Given the description of an element on the screen output the (x, y) to click on. 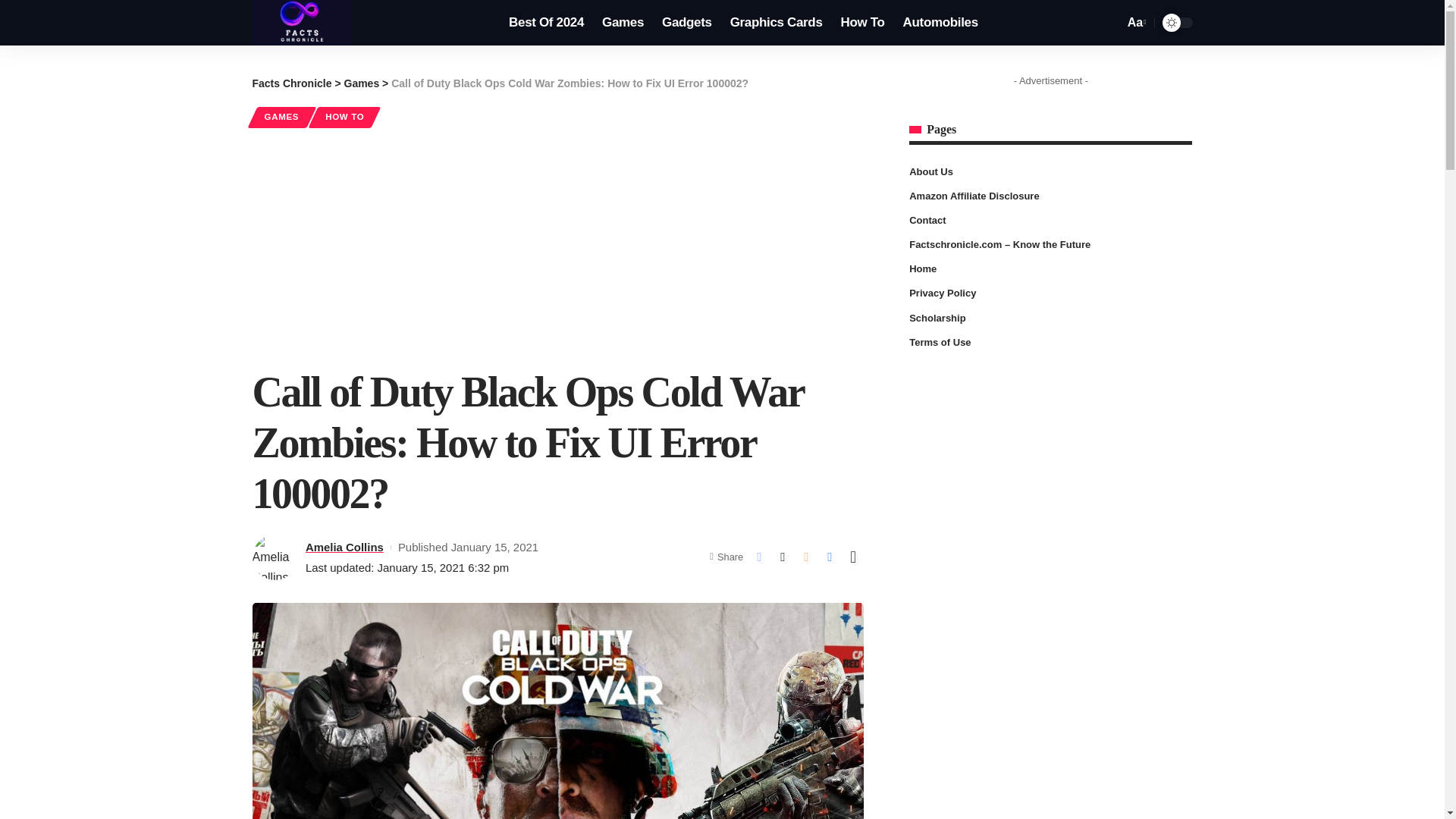
Go to Facts Chronicle. (291, 82)
Go to the Games Category archives. (361, 82)
Gadgets (686, 22)
How To (862, 22)
Games (622, 22)
HOW TO (344, 117)
Automobiles (940, 22)
Facts Chronicle (301, 22)
GAMES (281, 117)
Advertisement (557, 245)
